Given the description of an element on the screen output the (x, y) to click on. 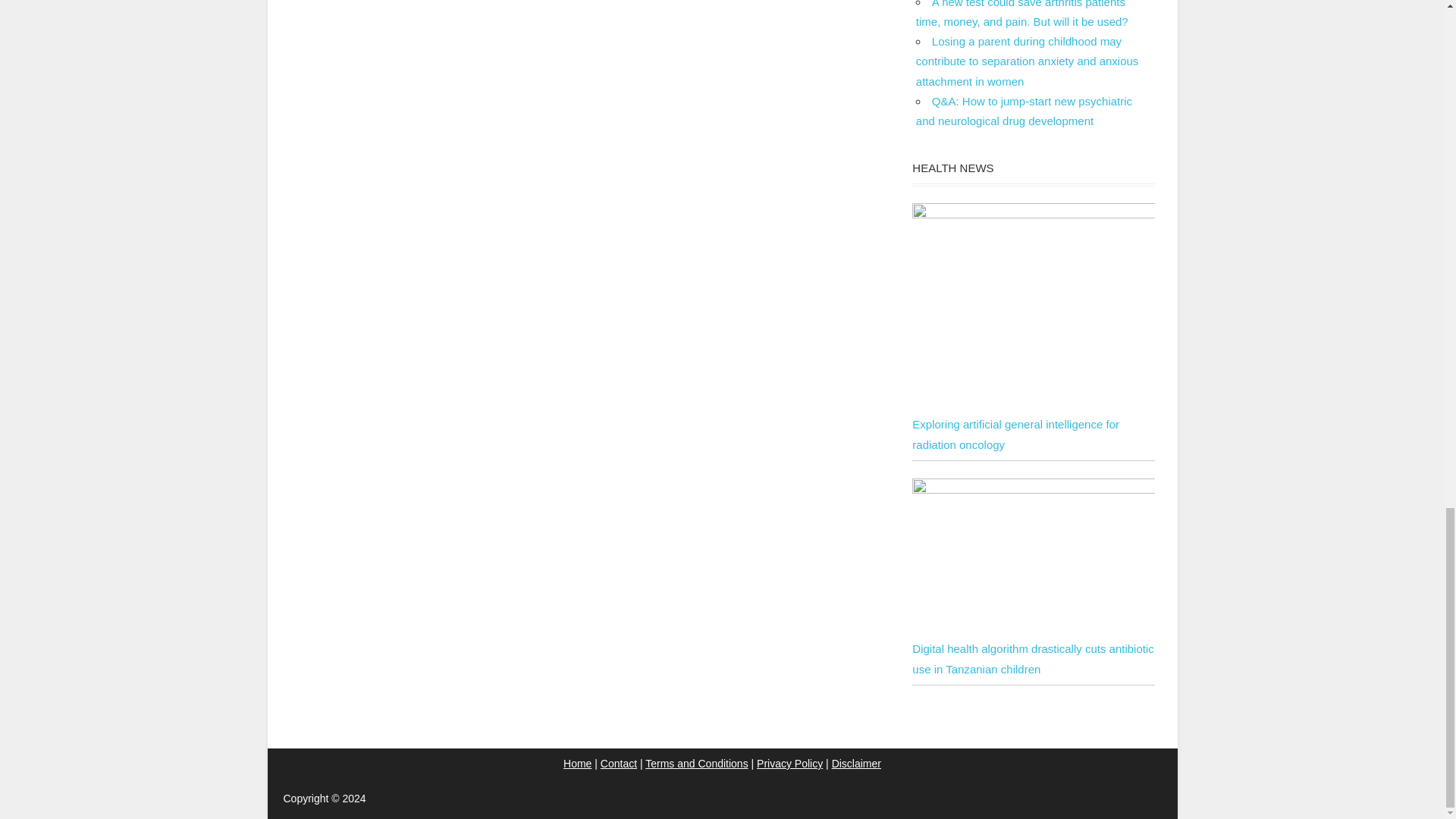
Terms and Conditions (696, 763)
Home (577, 763)
Contact (618, 763)
Privacy Policy (789, 763)
Disclaimer (855, 763)
